Given the description of an element on the screen output the (x, y) to click on. 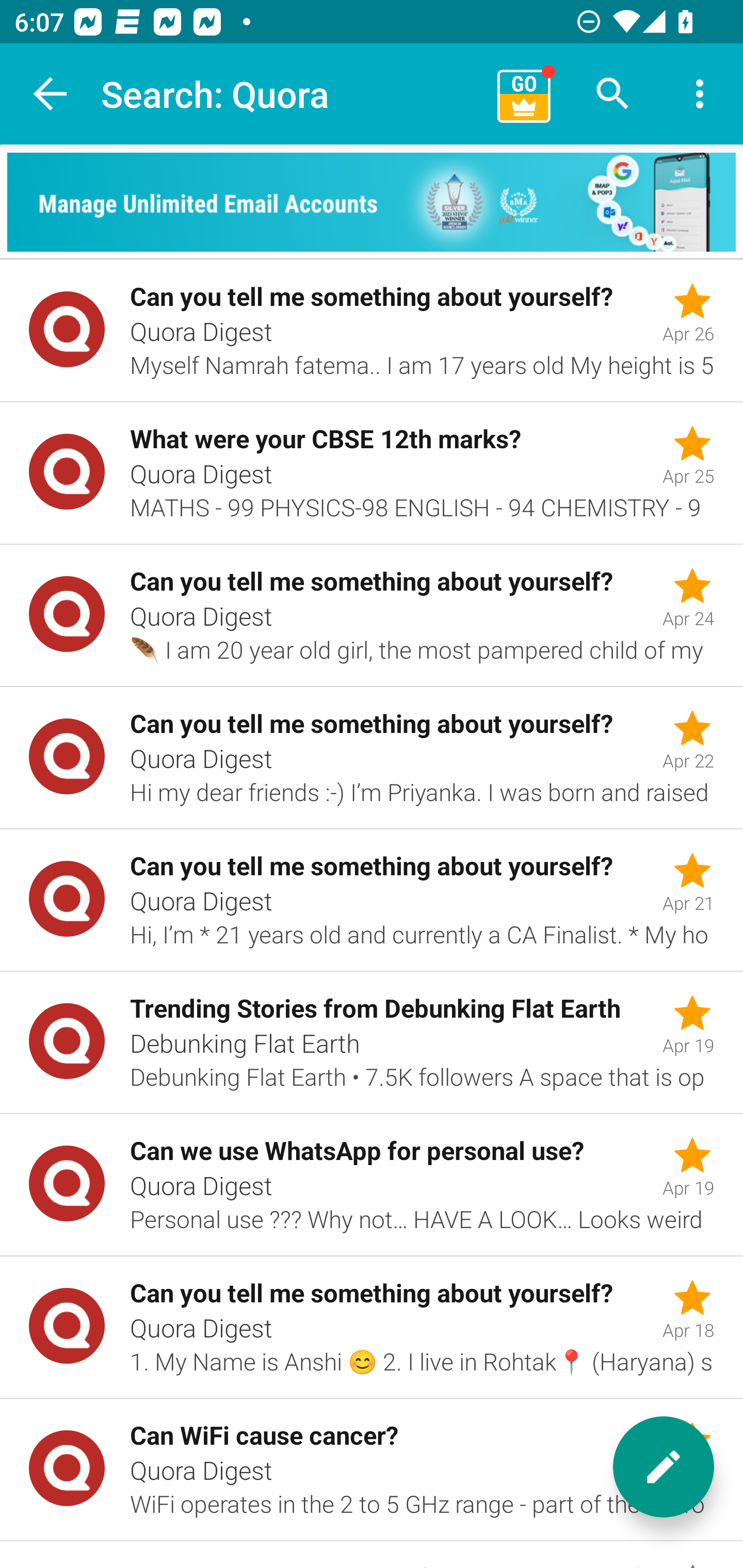
Navigate up (50, 93)
Search (612, 93)
More options (699, 93)
New message (663, 1466)
